Given the description of an element on the screen output the (x, y) to click on. 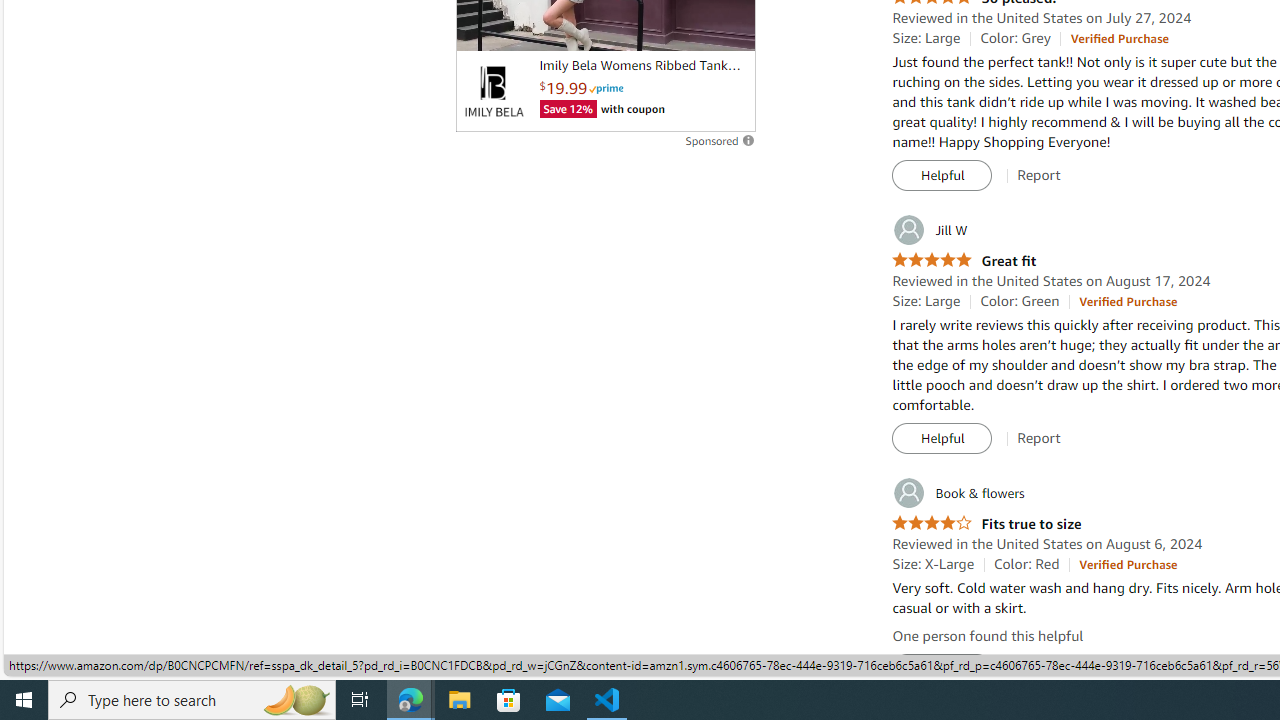
Book & flowers (958, 493)
Pause (481, 27)
4.0 out of 5 stars Fits true to size (986, 524)
Report (1039, 669)
Prime (605, 88)
Unmute (729, 27)
Helpful (942, 669)
Logo (493, 91)
Verified Purchase (1128, 564)
Jill W (929, 230)
5.0 out of 5 stars Great fit (964, 260)
